Given the description of an element on the screen output the (x, y) to click on. 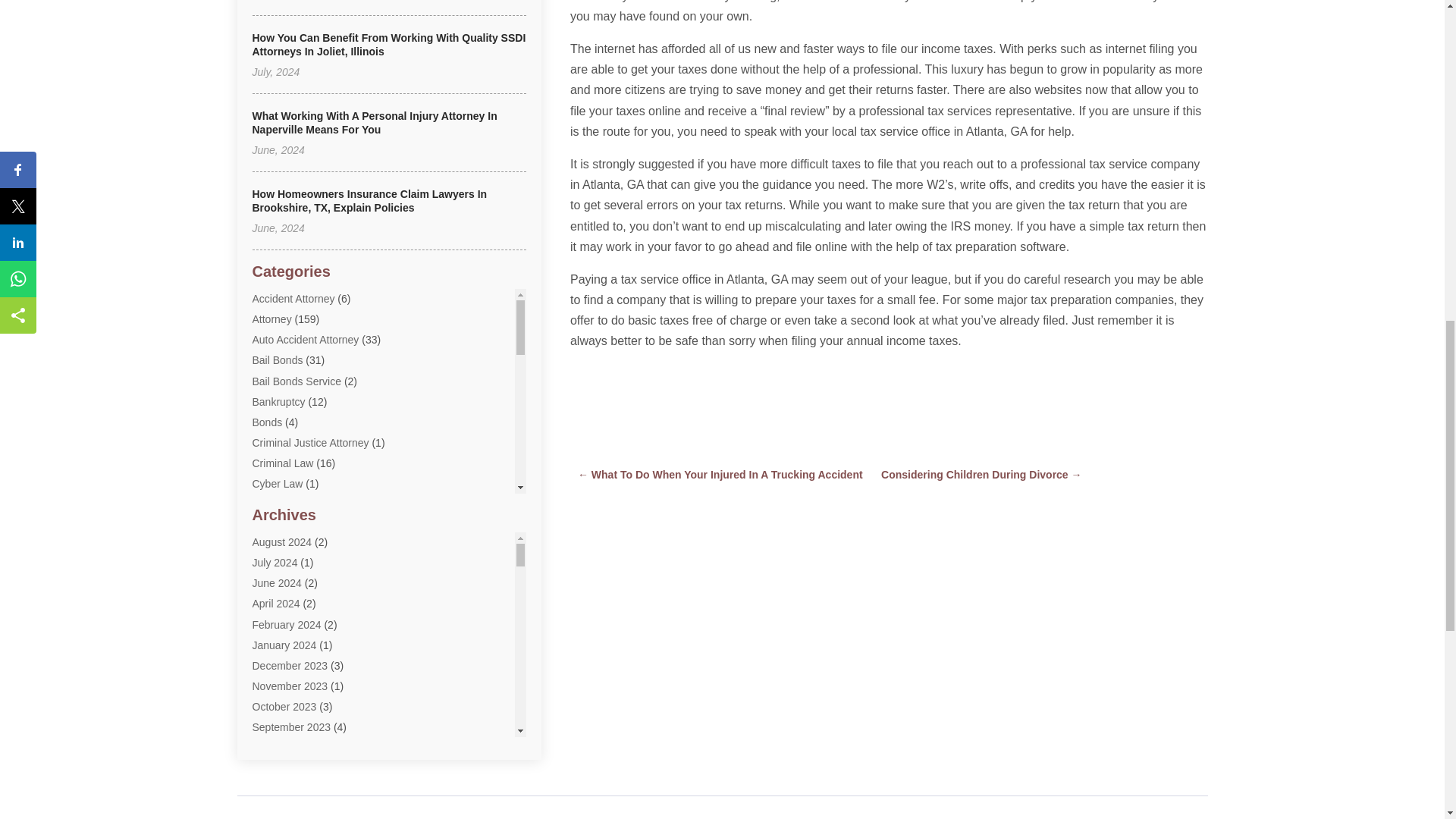
Accident Attorney (292, 298)
Divorce Service (288, 525)
Cyber Law (276, 483)
Dui Law Attorneys (294, 545)
Bankruptcy (277, 401)
Bonds (266, 422)
General (270, 628)
DWI Lawyers (282, 566)
Divorce Lawyer (287, 504)
